Given the description of an element on the screen output the (x, y) to click on. 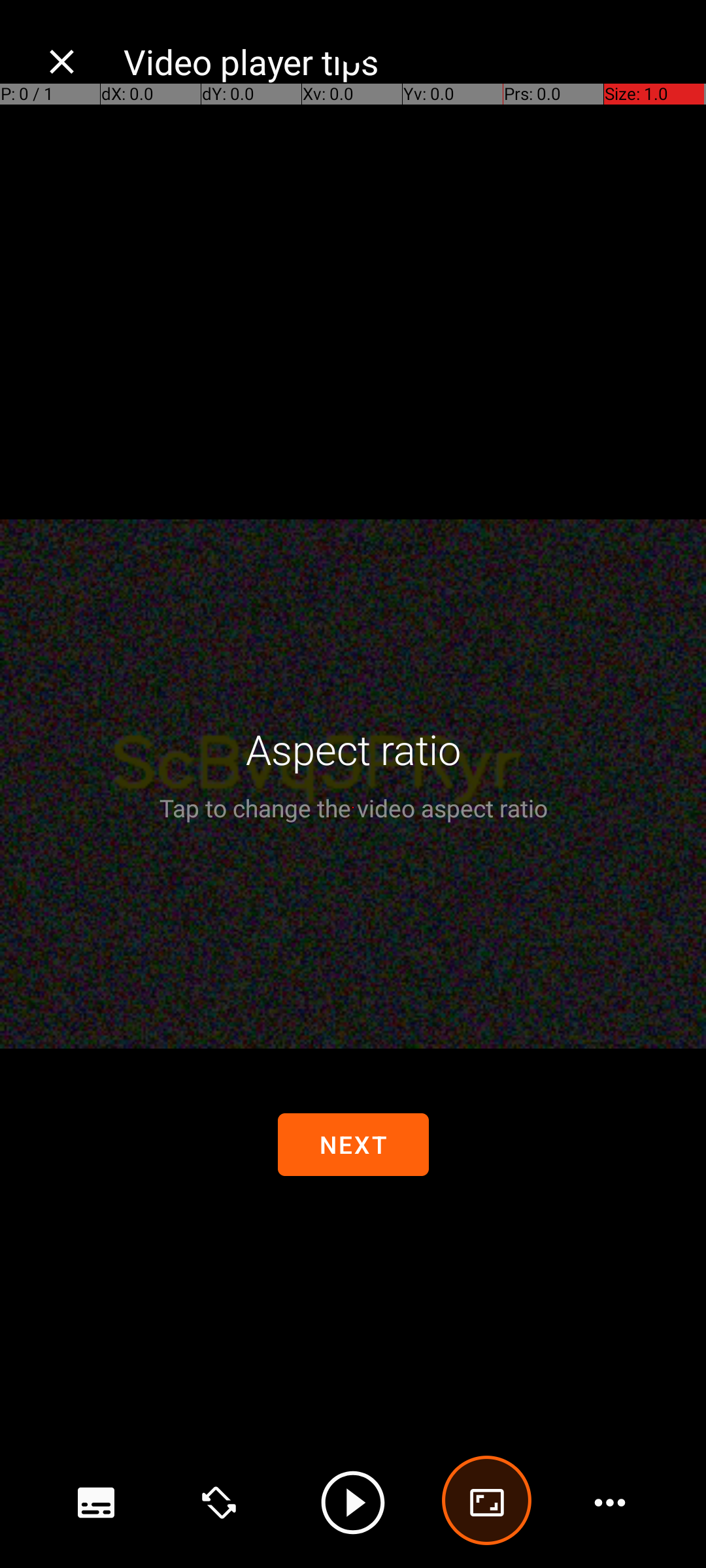
Video player. Tap to show controls. Tap the back button to hide them Element type: android.widget.FrameLayout (353, 784)
Video player tips Element type: android.widget.TextView (400, 61)
Aspect ratio Element type: android.widget.TextView (352, 748)
Tap to change the video aspect ratio Element type: android.widget.TextView (352, 807)
advanced options Element type: android.widget.ImageView (486, 1502)
